Given the description of an element on the screen output the (x, y) to click on. 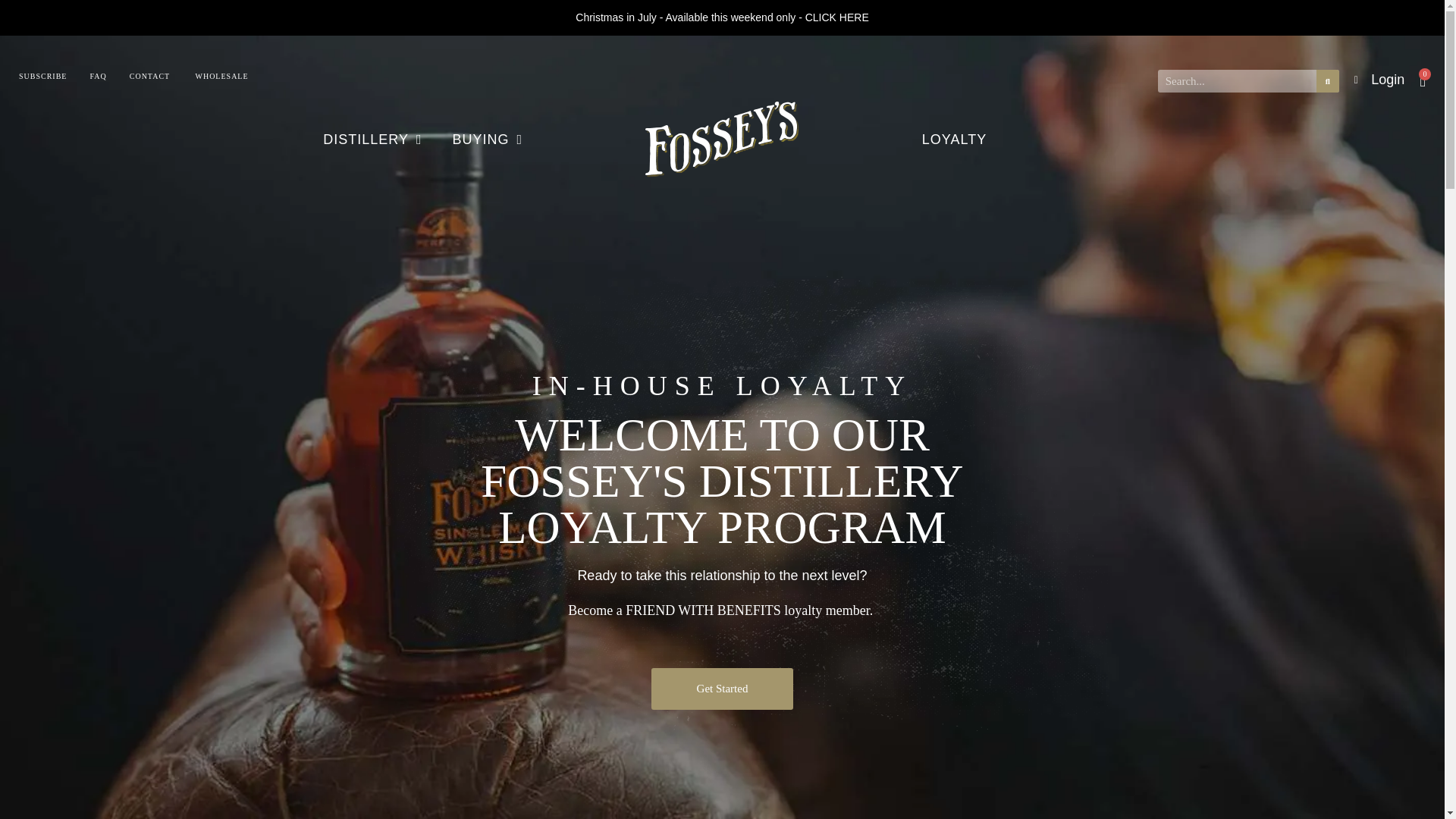
FAQ (97, 76)
CONTACT (149, 76)
Christmas in July - Available this weekend only - CLICK HERE (721, 17)
Login (1379, 79)
SUBSCRIBE (42, 76)
BUYING (488, 139)
WHOLESALE (221, 76)
DISTILLERY (371, 139)
